Given the description of an element on the screen output the (x, y) to click on. 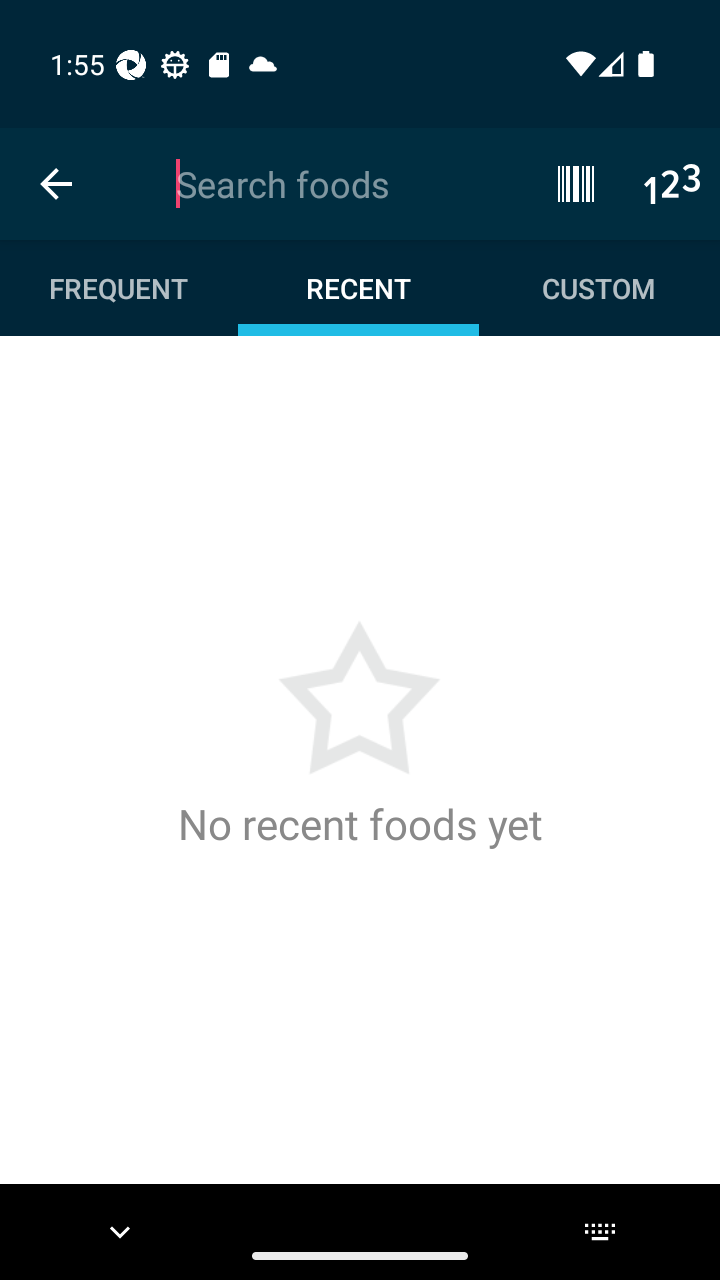
Collapse (56, 184)
Barcode scanner (575, 183)
Add Quick Calories (672, 183)
Search foods (335, 184)
FREQUENT (119, 287)
RECENT (358, 287)
CUSTOM (598, 287)
